Given the description of an element on the screen output the (x, y) to click on. 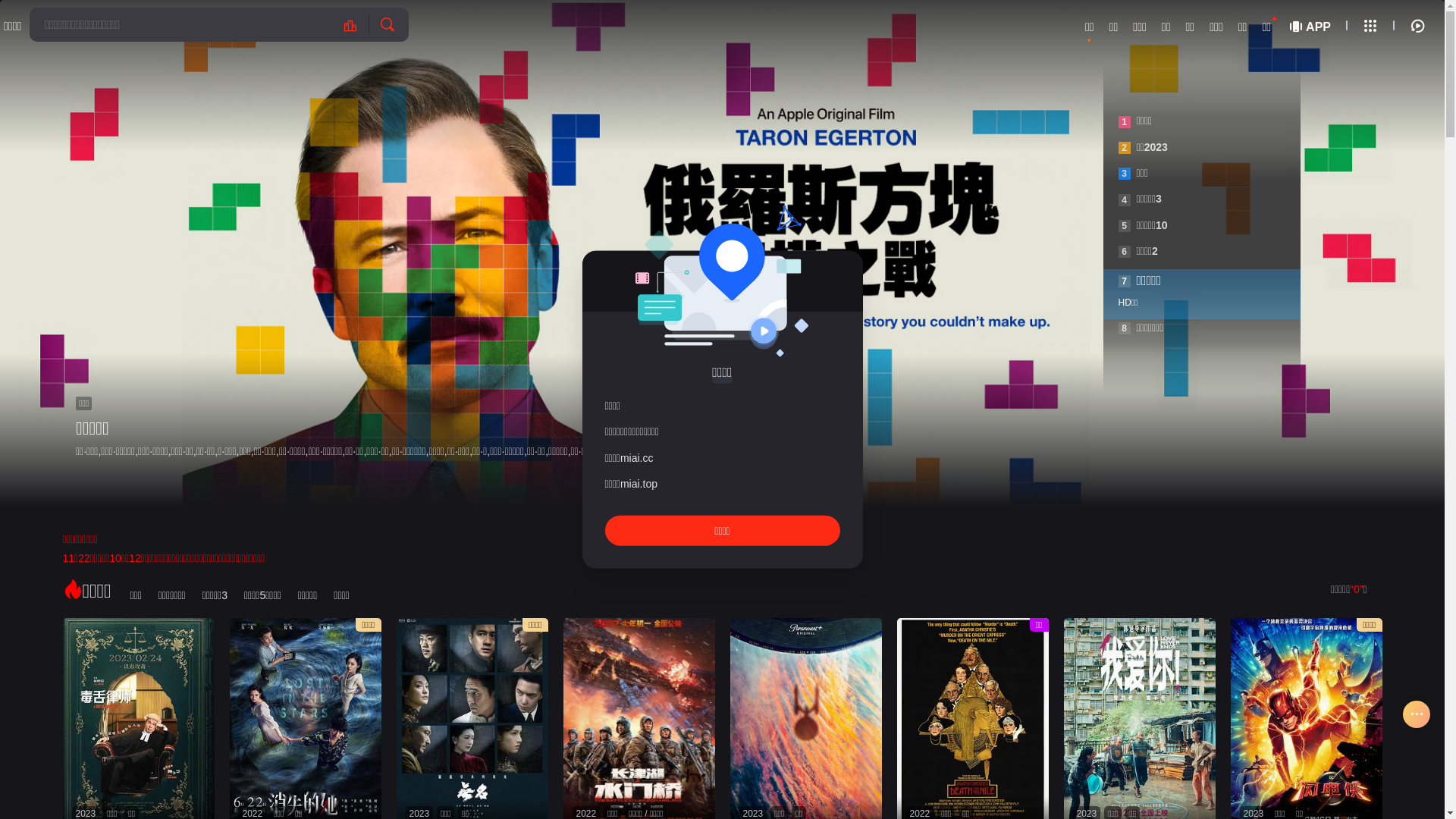
APP Element type: text (1308, 26)
